Given the description of an element on the screen output the (x, y) to click on. 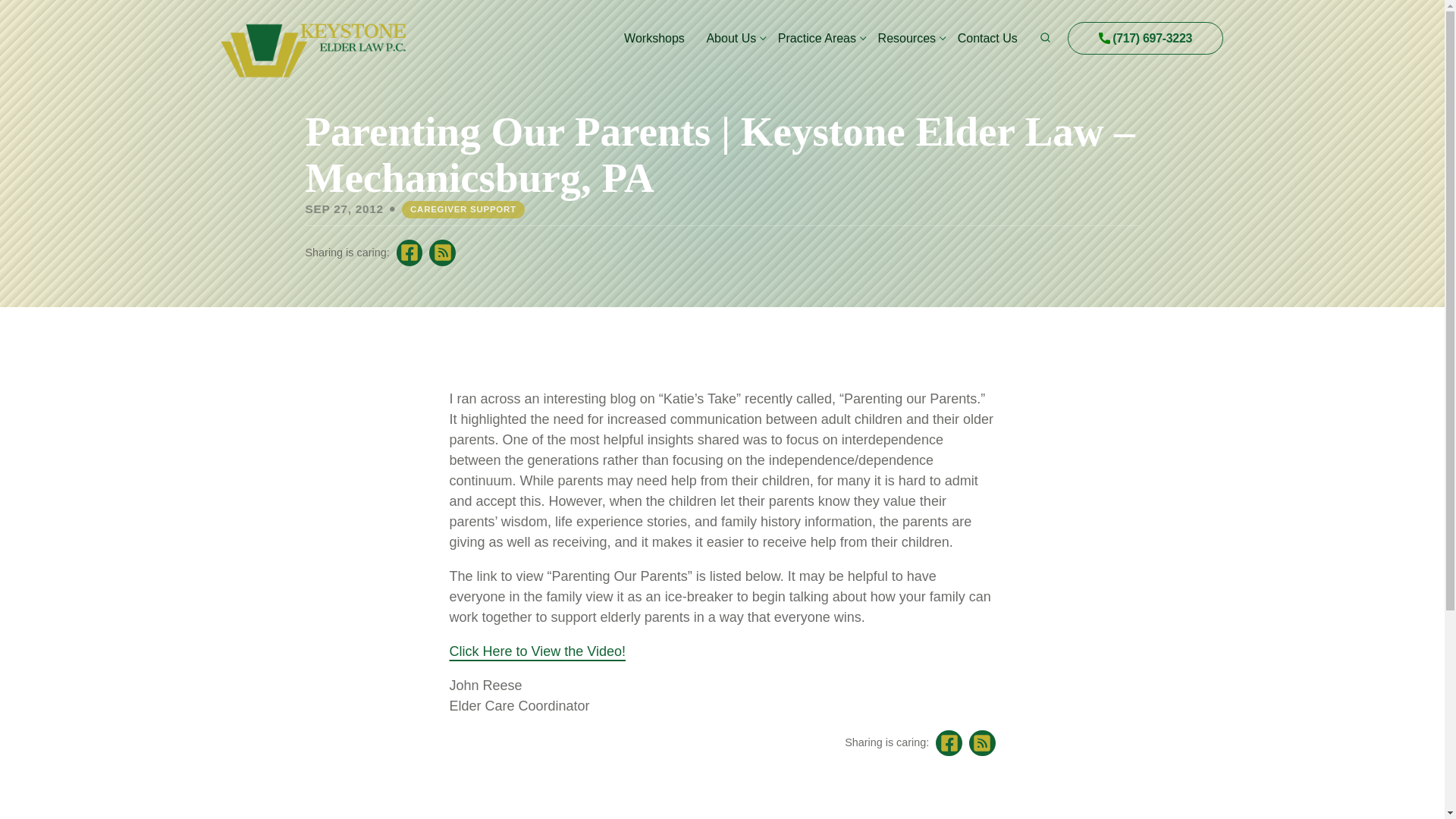
Share (982, 743)
Workshops (653, 37)
Share on Facebook (949, 743)
Share on Facebook (409, 252)
Contact Us (987, 37)
Click Here to View the Video! (536, 651)
Click Here to View the Video! (536, 651)
About Us (730, 37)
Resources (907, 37)
Share (442, 252)
Practice Areas (816, 37)
CAREGIVER SUPPORT (463, 209)
